Given the description of an element on the screen output the (x, y) to click on. 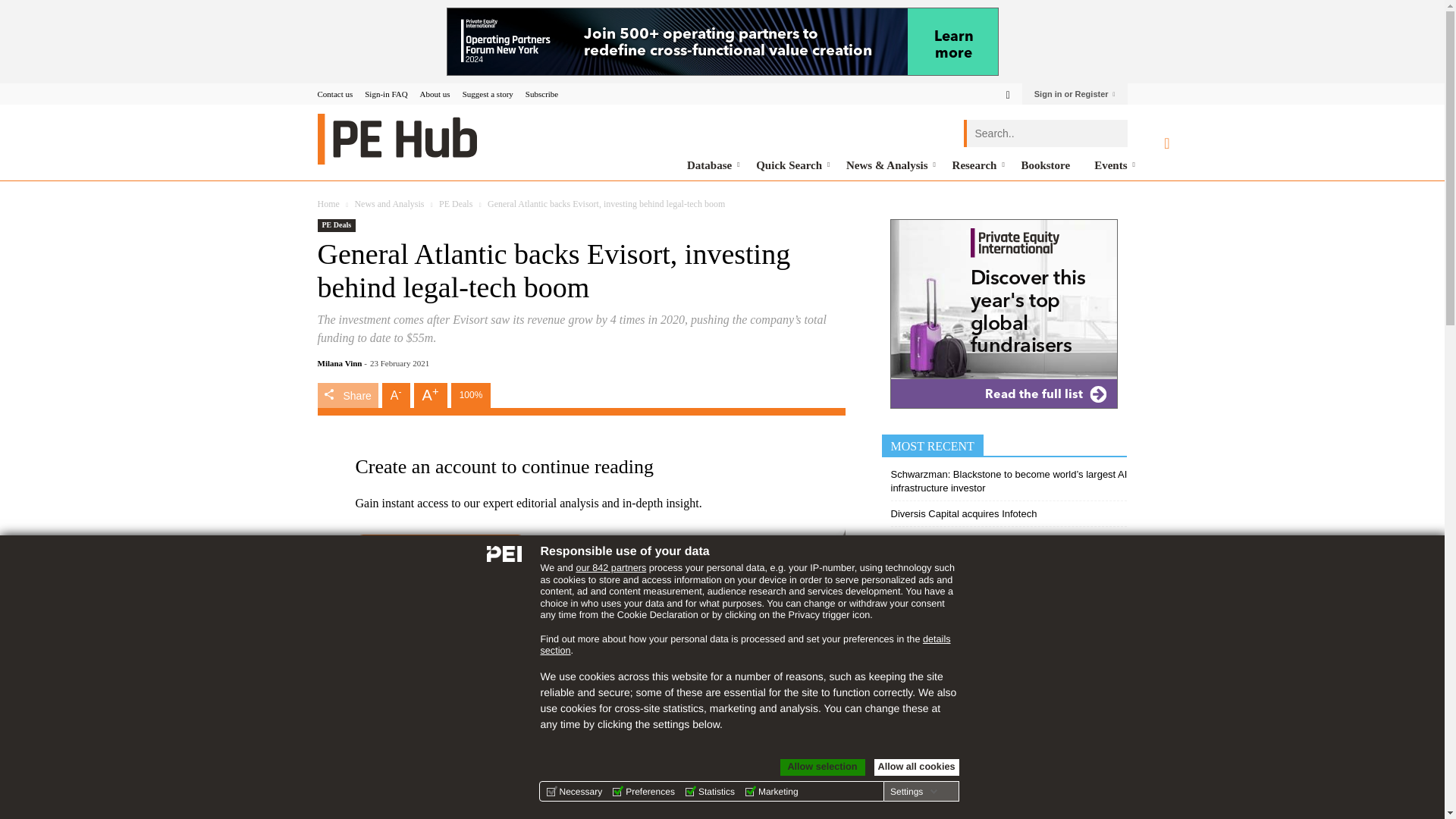
our 842 partners (610, 567)
Allow all cookies (915, 767)
details section (745, 644)
Allow selection (821, 767)
Settings (913, 791)
